Given the description of an element on the screen output the (x, y) to click on. 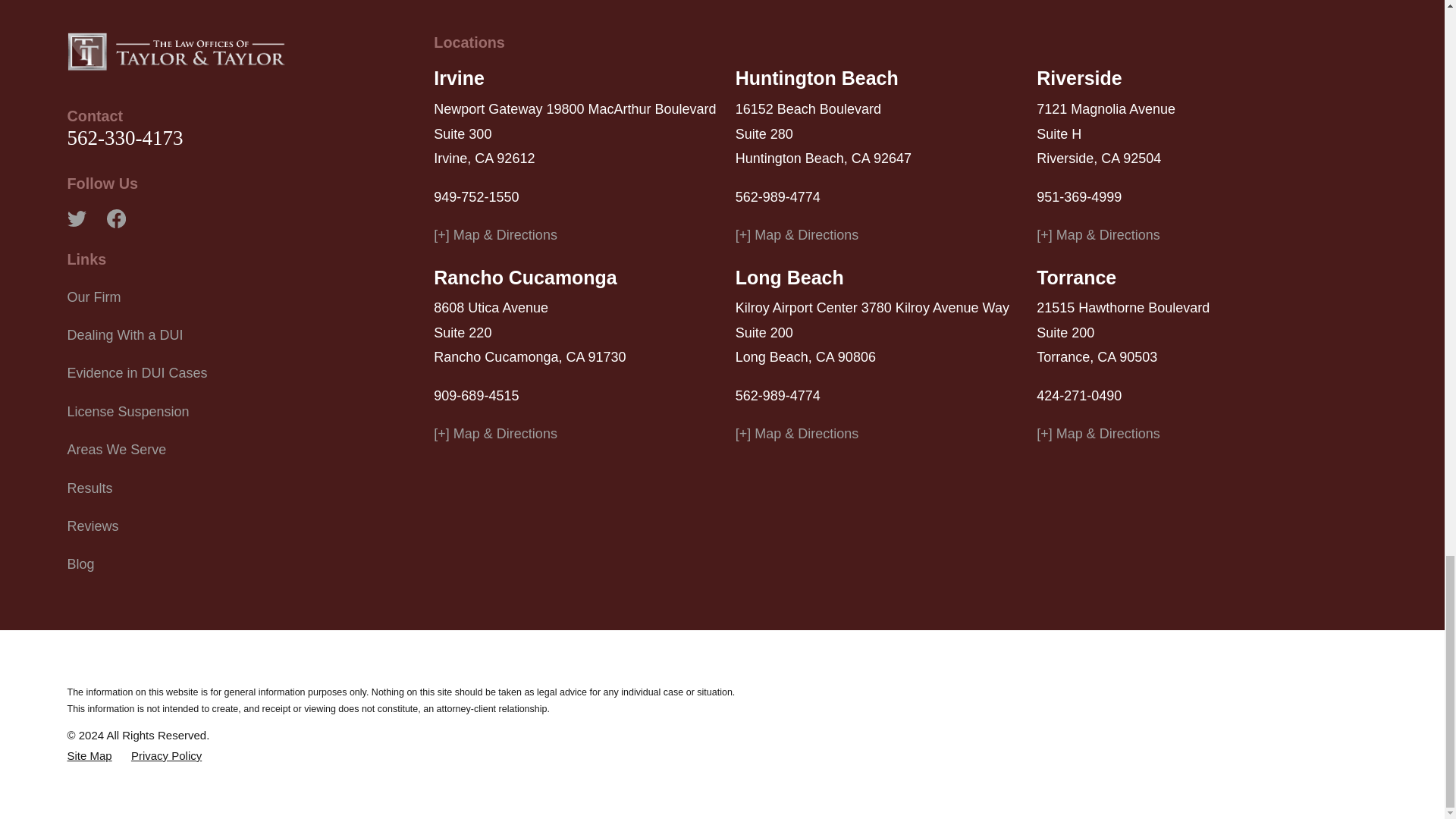
Facebook (115, 218)
Home (175, 51)
Twitter (75, 218)
